Given the description of an element on the screen output the (x, y) to click on. 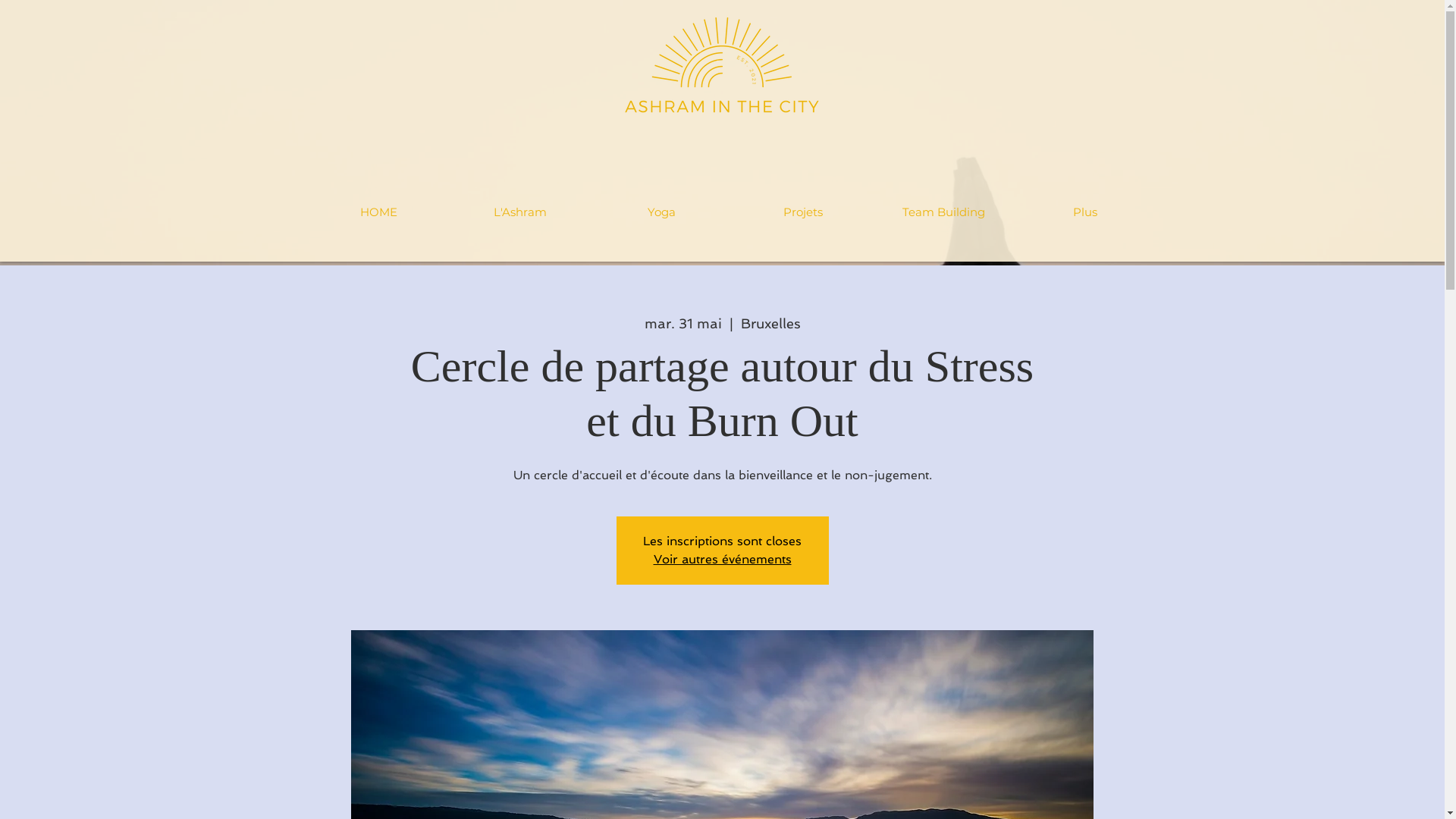
Projets Element type: text (802, 211)
HOME Element type: text (378, 211)
Team Building Element type: text (943, 211)
Yoga Element type: text (661, 211)
TWIPLA (Visitor Analytics) Element type: hover (1442, 4)
L'Ashram Element type: text (519, 211)
